Given the description of an element on the screen output the (x, y) to click on. 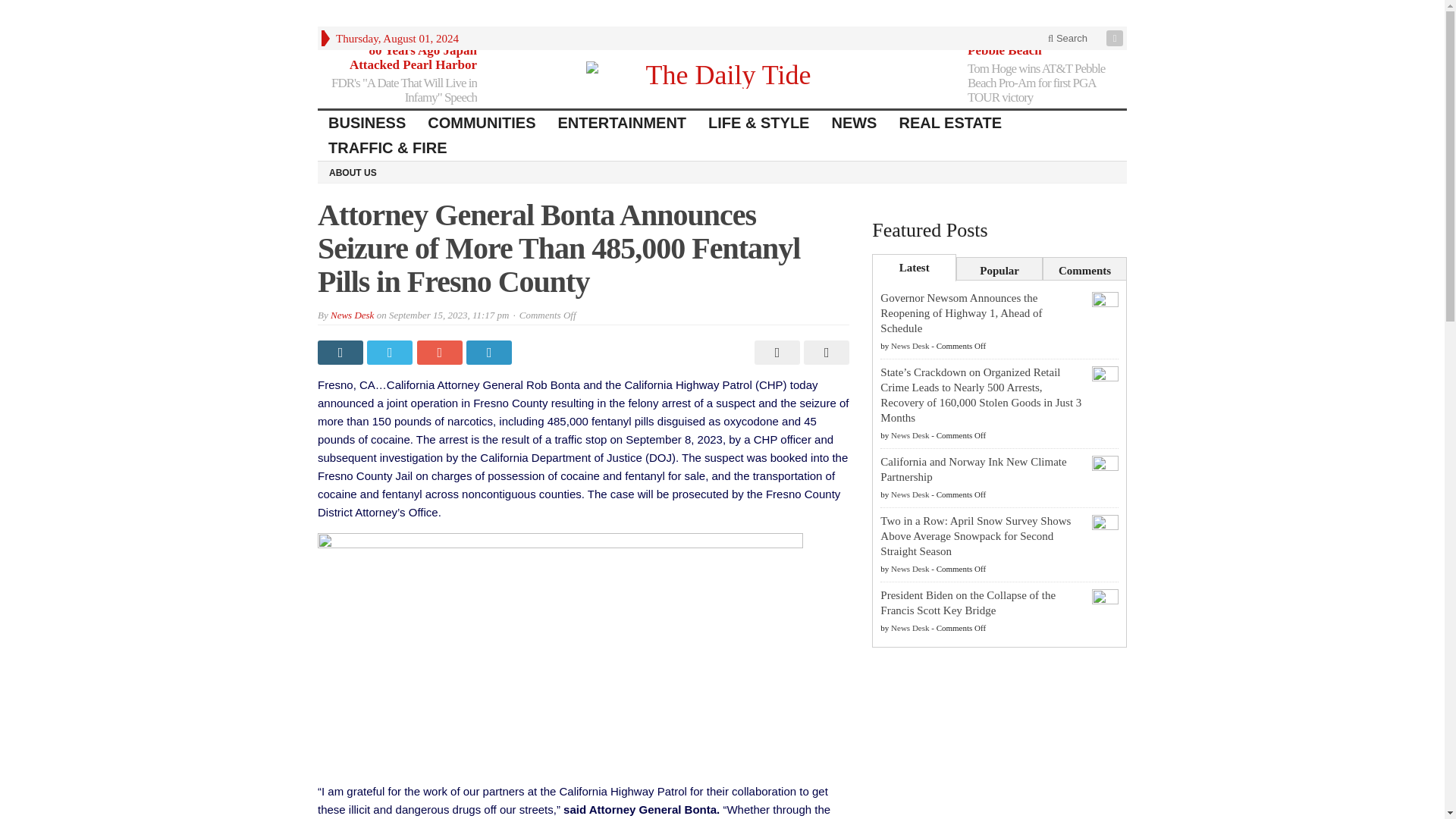
80 Years Ago Japan Attacked Pearl Harbor (413, 57)
COMMUNITIES (481, 122)
Share on Twitter (391, 352)
BUSINESS (366, 122)
FDR's "A Date That Will Live in Infamy" Speech (404, 90)
Share on LinkedIn (490, 352)
Search (1067, 37)
ENTERTAINMENT (622, 122)
Send by Email (823, 352)
Share on Facebook (341, 352)
Print This Post (775, 352)
Site feed (1115, 37)
